Given the description of an element on the screen output the (x, y) to click on. 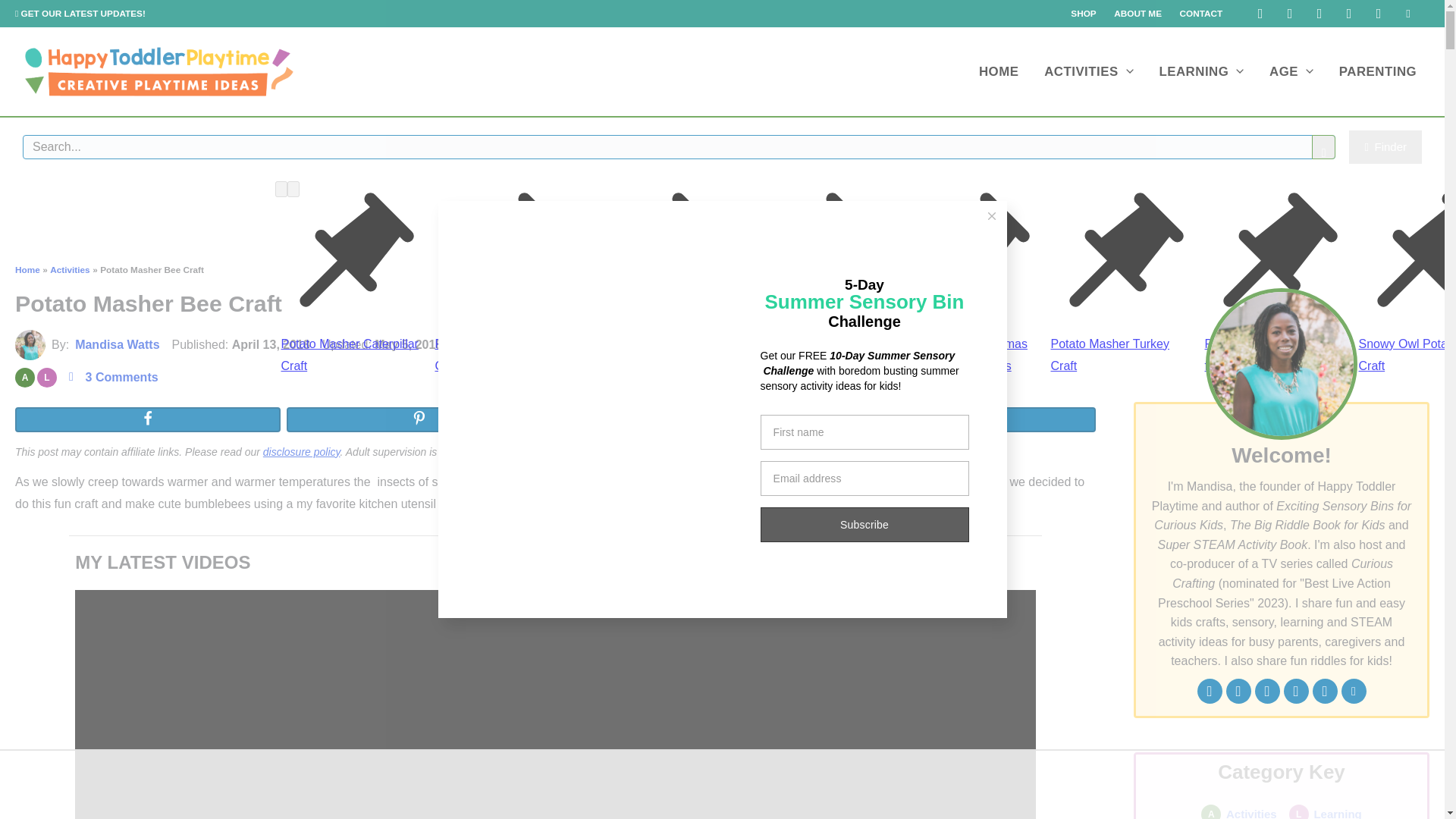
SHOP (1083, 13)
Search (1323, 146)
Youtube (1378, 13)
CONTACT (1200, 13)
Tiktok (1348, 13)
Posts by Mandisa Watts (116, 344)
PARENTING (1377, 70)
ABOUT ME (1137, 13)
GET OUR LATEST UPDATES! (79, 13)
ACTIVITIES (1087, 70)
AGE (1291, 70)
LEARNING (1202, 70)
Facebook (1260, 13)
Pinterest (1319, 13)
Mandisa Watts (29, 343)
